Given the description of an element on the screen output the (x, y) to click on. 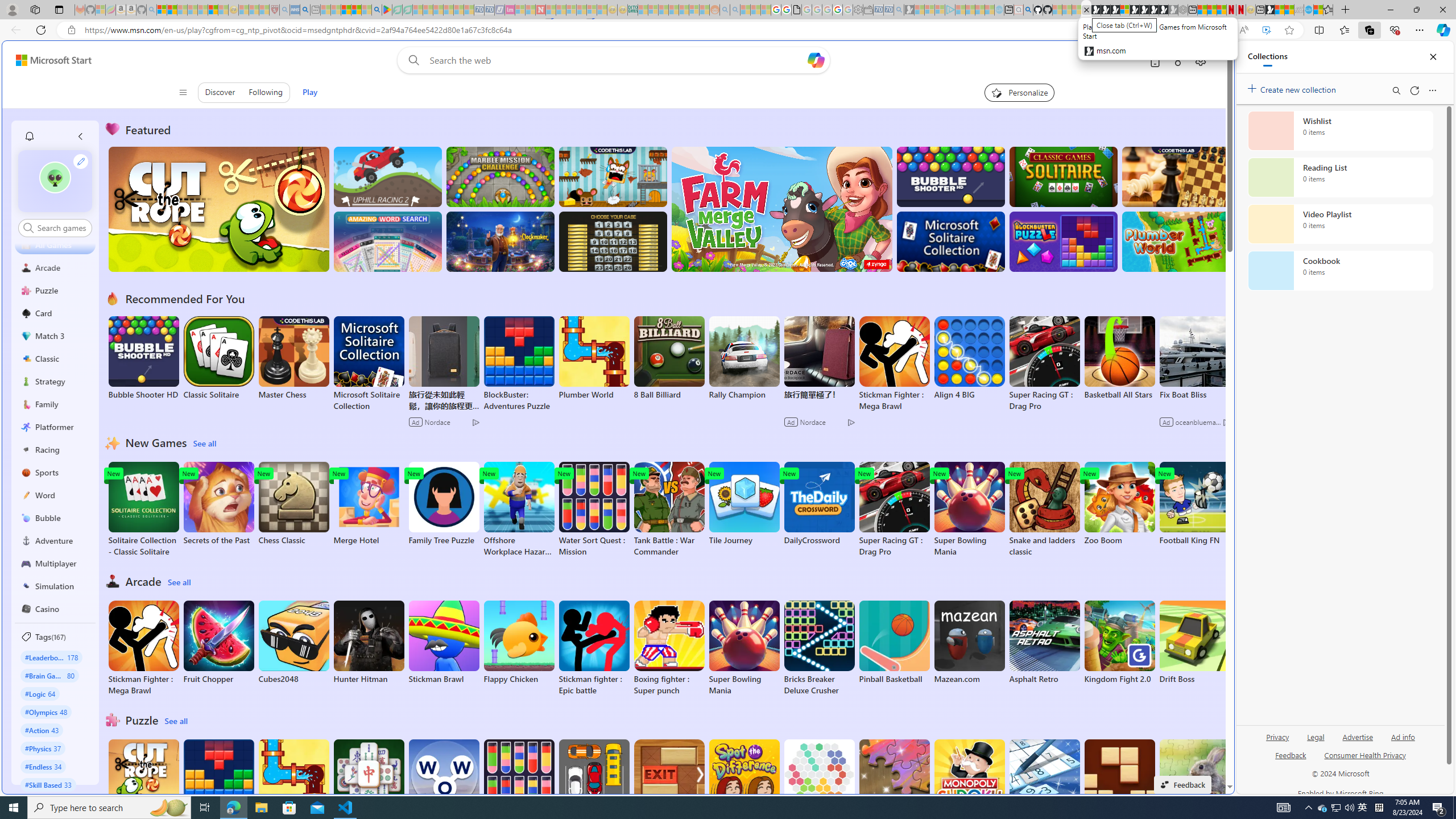
utah sues federal government - Search (304, 9)
Reading List collection, 0 items (1339, 177)
Chess Classic (293, 503)
Squicky (612, 176)
